Given the description of an element on the screen output the (x, y) to click on. 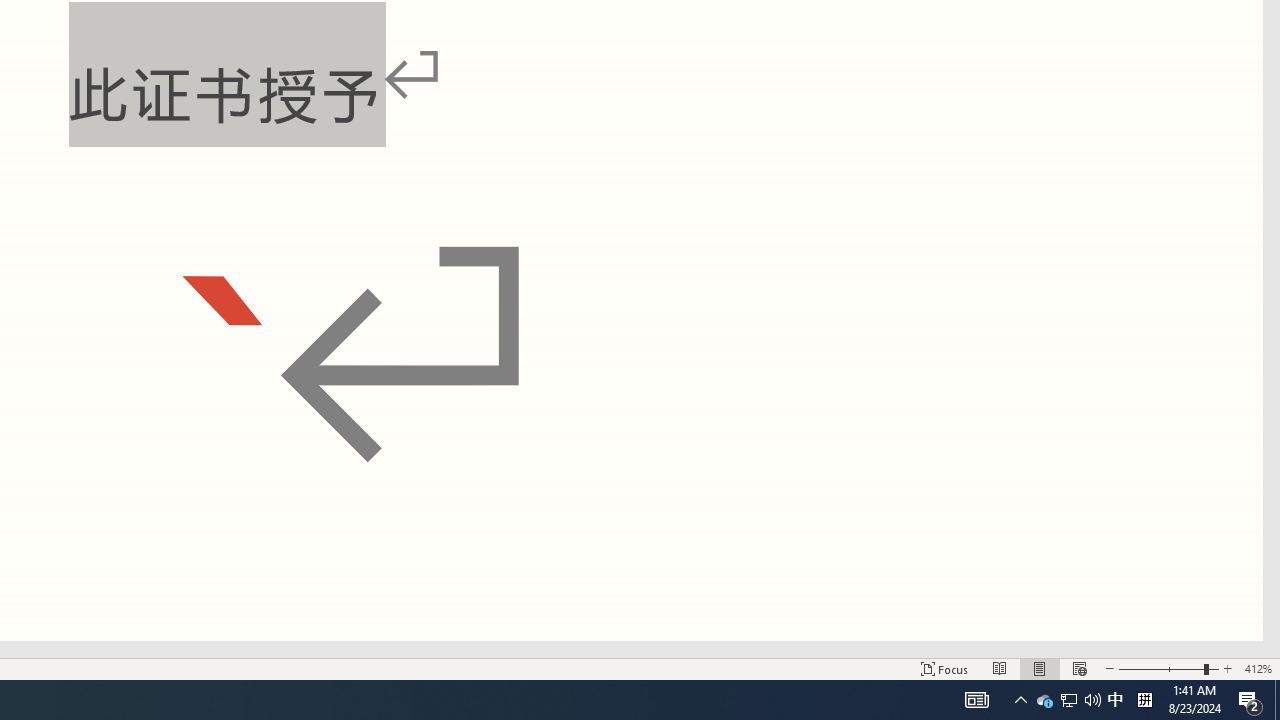
Zoom 412% (1258, 668)
